Given the description of an element on the screen output the (x, y) to click on. 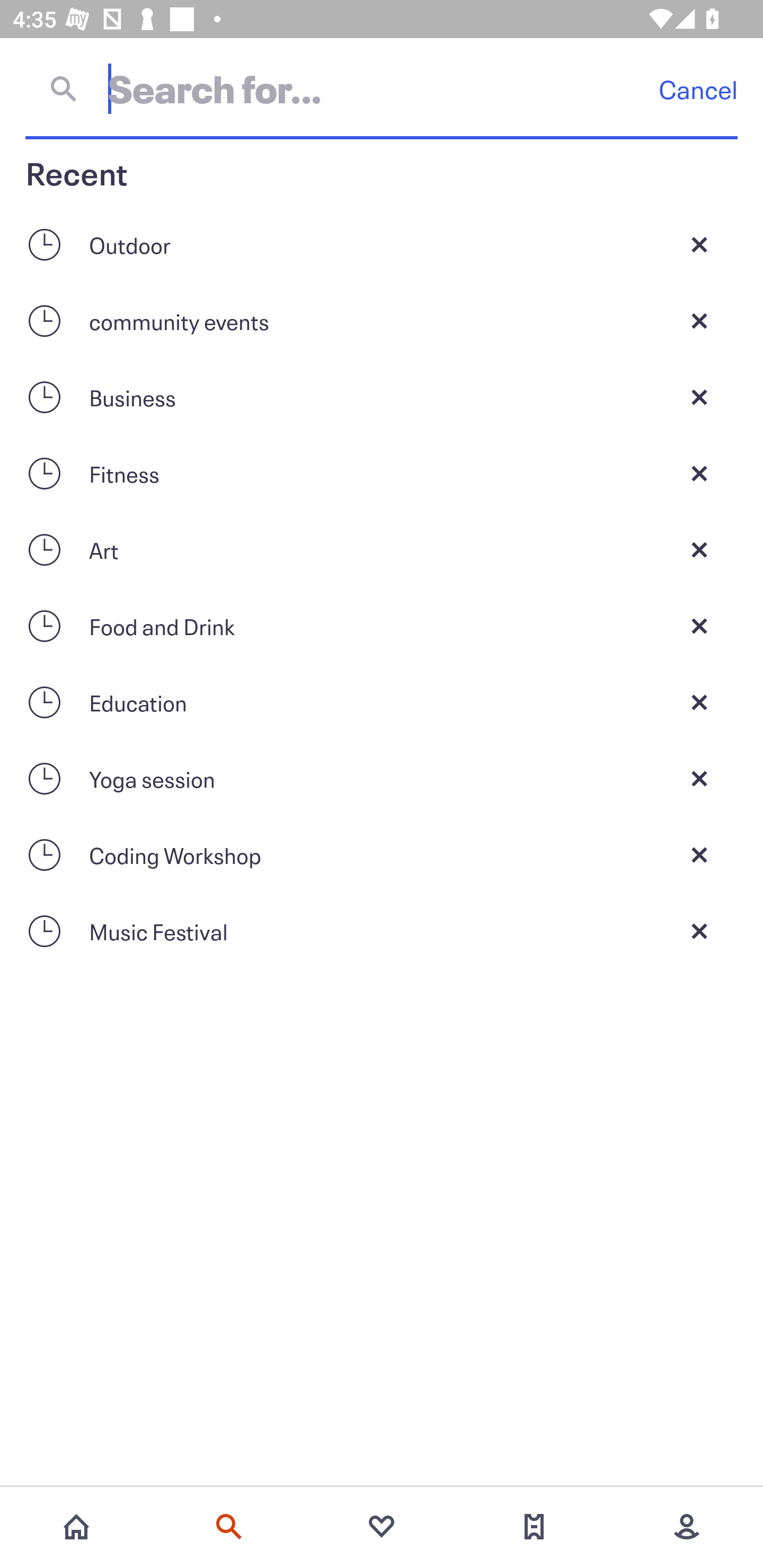
Cancel Search for… (381, 88)
Cancel (697, 89)
Outdoor Close current screen (381, 244)
Close current screen (699, 244)
community events Close current screen (381, 320)
Close current screen (699, 320)
Business Close current screen (381, 397)
Close current screen (699, 397)
Fitness Close current screen (381, 473)
Close current screen (699, 473)
Art Close current screen (381, 549)
Close current screen (699, 549)
Food and Drink Close current screen (381, 626)
Close current screen (699, 626)
Education Close current screen (381, 702)
Close current screen (699, 702)
Yoga session Close current screen (381, 778)
Close current screen (699, 778)
Coding Workshop Close current screen (381, 854)
Close current screen (699, 854)
Music Festival Close current screen (381, 931)
Close current screen (699, 931)
Home (76, 1526)
Search events (228, 1526)
Favorites (381, 1526)
Tickets (533, 1526)
More (686, 1526)
